Given the description of an element on the screen output the (x, y) to click on. 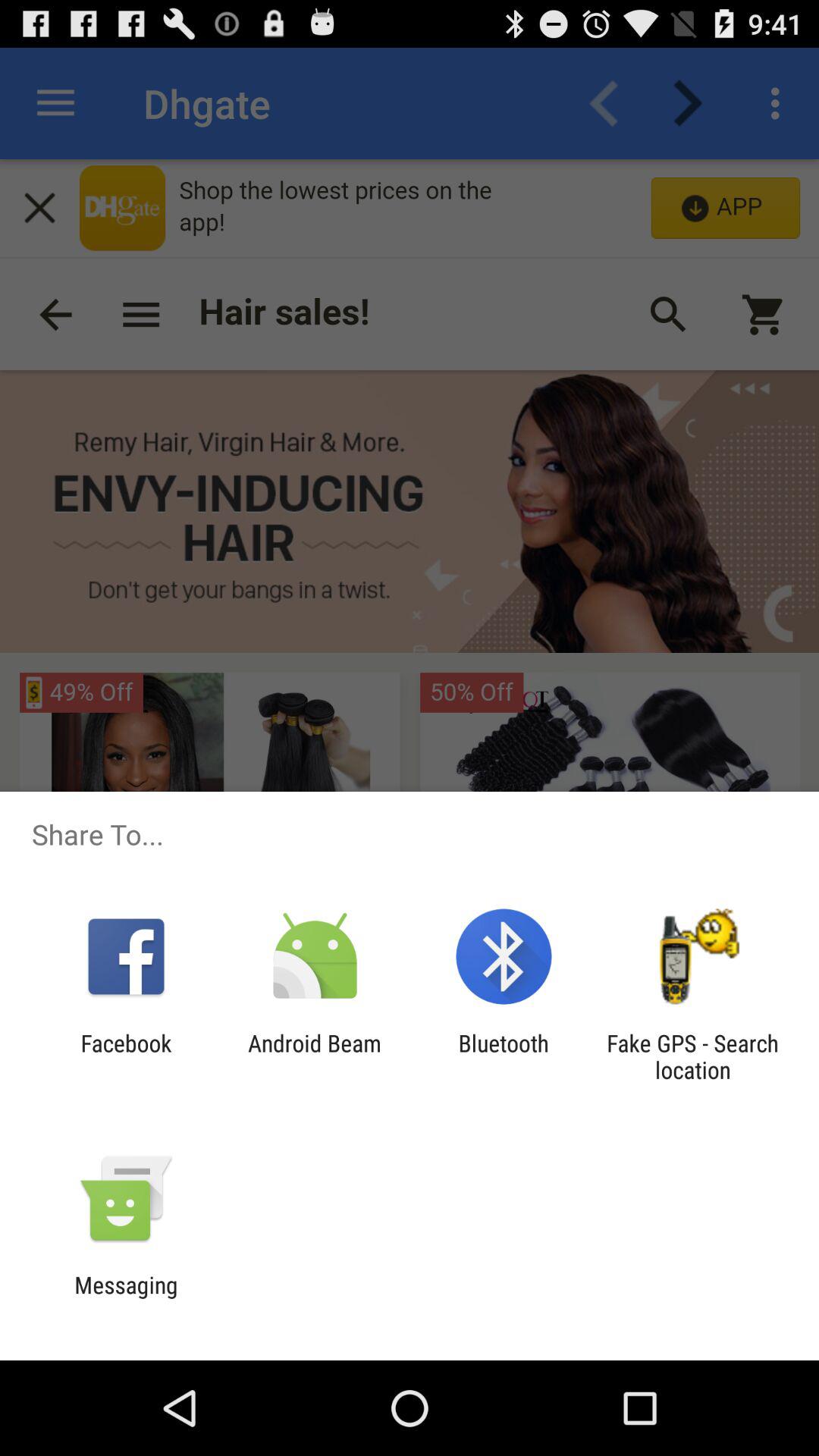
scroll until the messaging item (126, 1298)
